Given the description of an element on the screen output the (x, y) to click on. 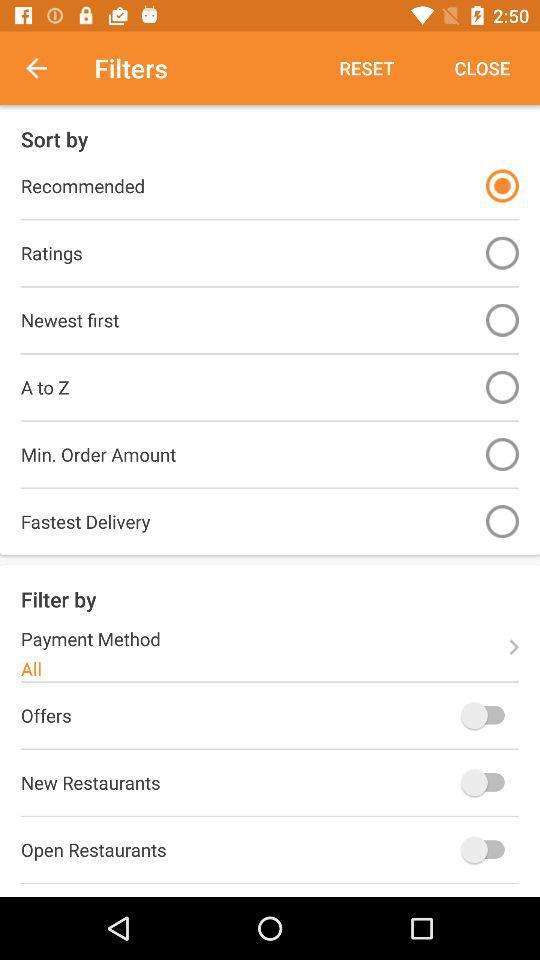
toggle offer filter (487, 715)
